Given the description of an element on the screen output the (x, y) to click on. 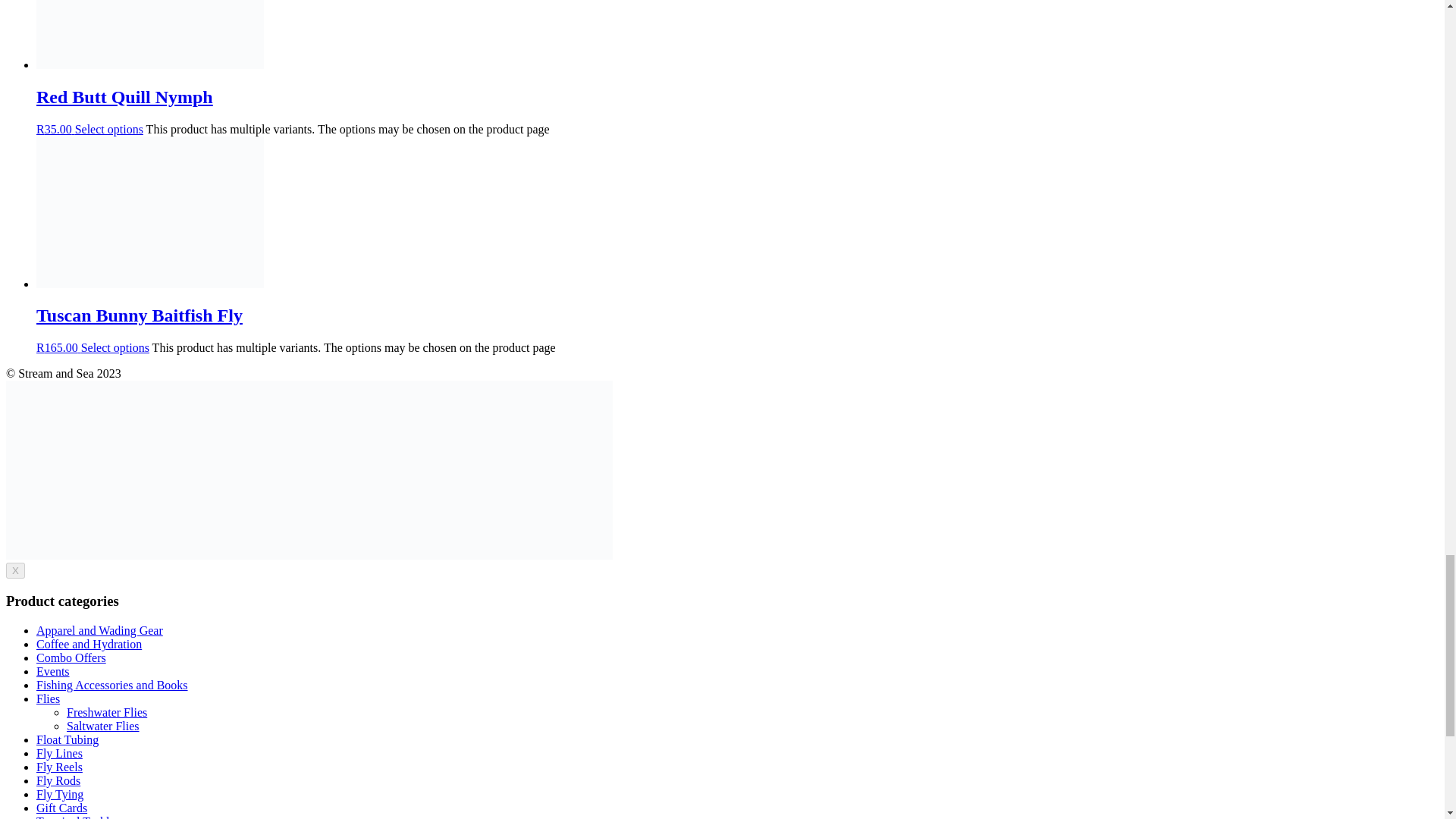
Select options (115, 347)
Flies (47, 698)
Select options (108, 128)
X (14, 570)
Freshwater Flies (106, 712)
Coffee and Hydration (88, 644)
Combo Offers (71, 657)
Fishing Accessories and Books (111, 684)
Events (52, 671)
Apparel and Wading Gear (99, 630)
